Given the description of an element on the screen output the (x, y) to click on. 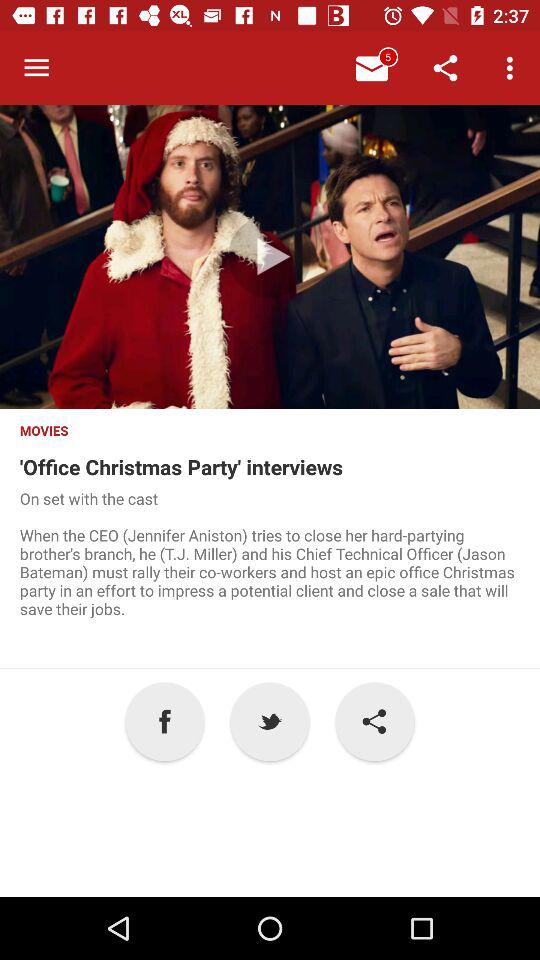
open the item next to the p (374, 721)
